Given the description of an element on the screen output the (x, y) to click on. 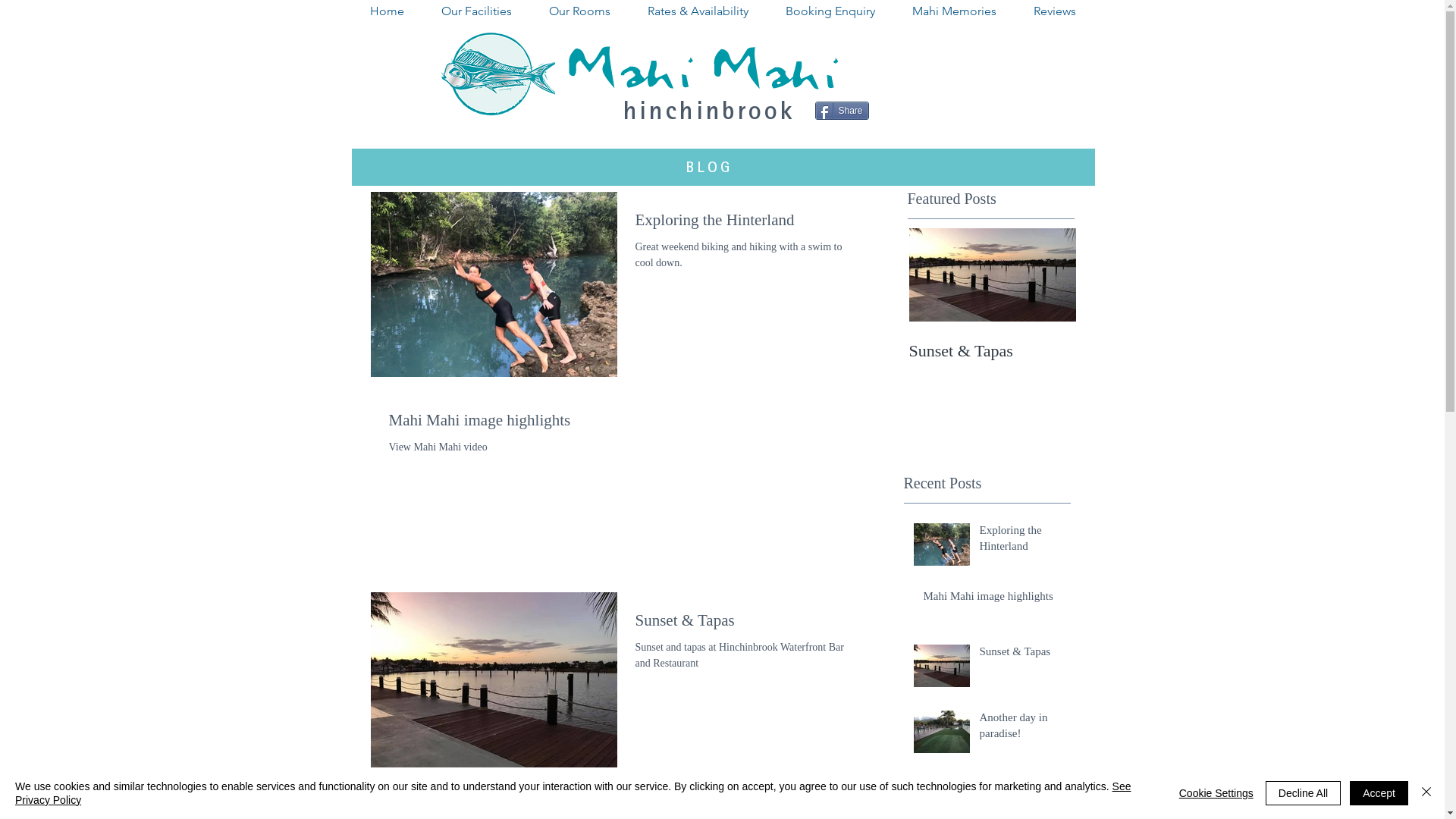
Exploring the Hinterland Element type: text (1020, 541)
Home Element type: text (387, 11)
Share Element type: text (841, 110)
Sunset & Tapas Element type: text (747, 624)
Reviews Element type: text (1053, 11)
Sunset & Tapas Element type: text (991, 350)
Mahi Mahi image highlights Element type: text (623, 424)
See Privacy Policy Element type: text (572, 793)
Exploring the Hinterland Element type: text (747, 224)
hinchinbrook Element type: text (708, 109)
Accept Element type: text (1378, 793)
Sunset & Tapas Element type: text (1020, 654)
Mahi Mahi image highlights Element type: text (992, 599)
Our Facilities Element type: text (476, 11)
Booking Enquiry Element type: text (830, 11)
Embedded Content Element type: hover (1018, 66)
Mahi Memories Element type: text (953, 11)
Another day in paradise! Element type: text (1020, 728)
Our Rooms Element type: text (579, 11)
Rates & Availability Element type: text (698, 11)
Decline All Element type: text (1302, 793)
